Given the description of an element on the screen output the (x, y) to click on. 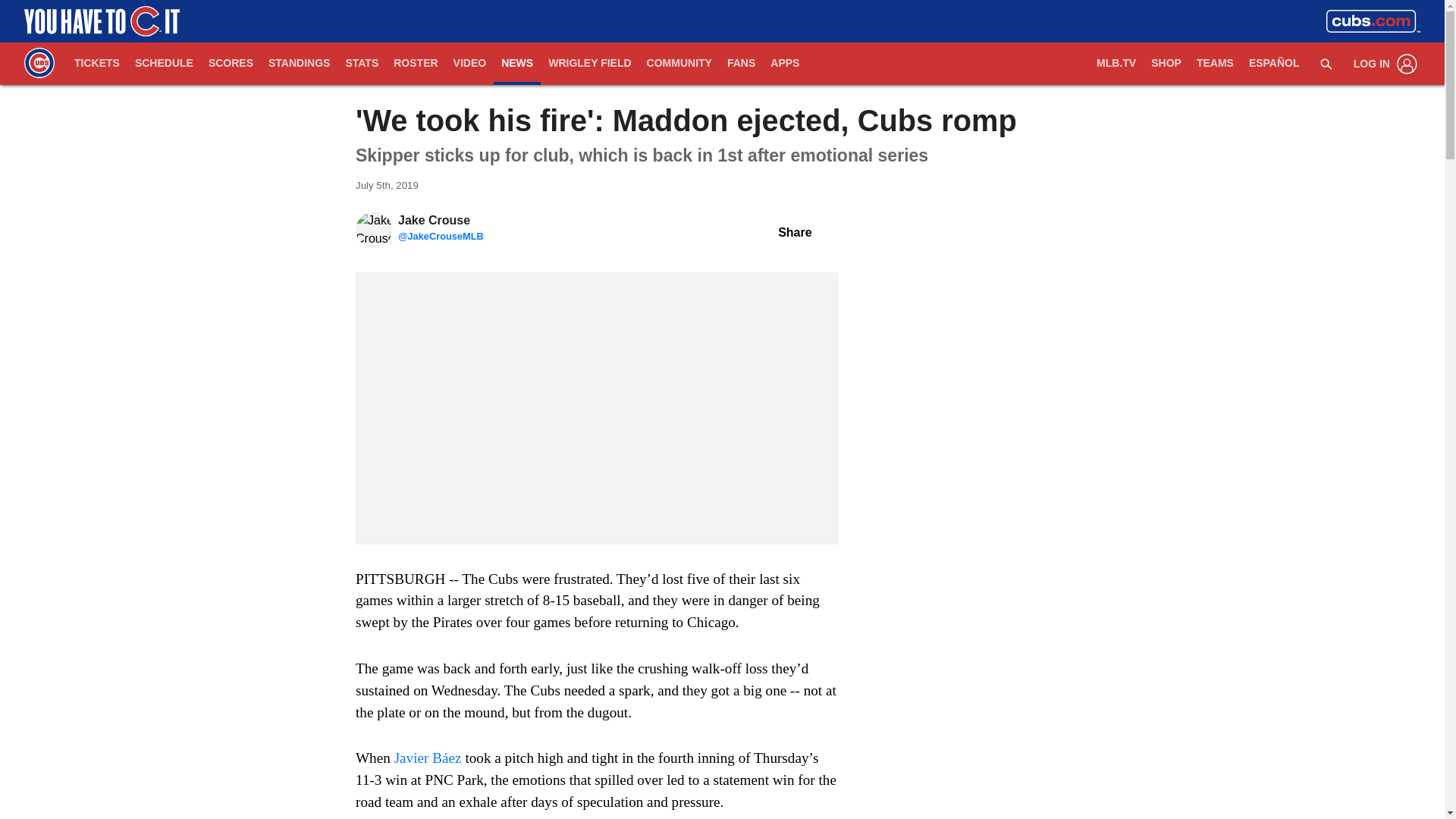
search-40902 (1326, 63)
ROSTER (415, 63)
STATS (361, 63)
TICKETS (97, 63)
SCHEDULE (164, 63)
SCORES (230, 63)
STANDINGS (298, 63)
